Given the description of an element on the screen output the (x, y) to click on. 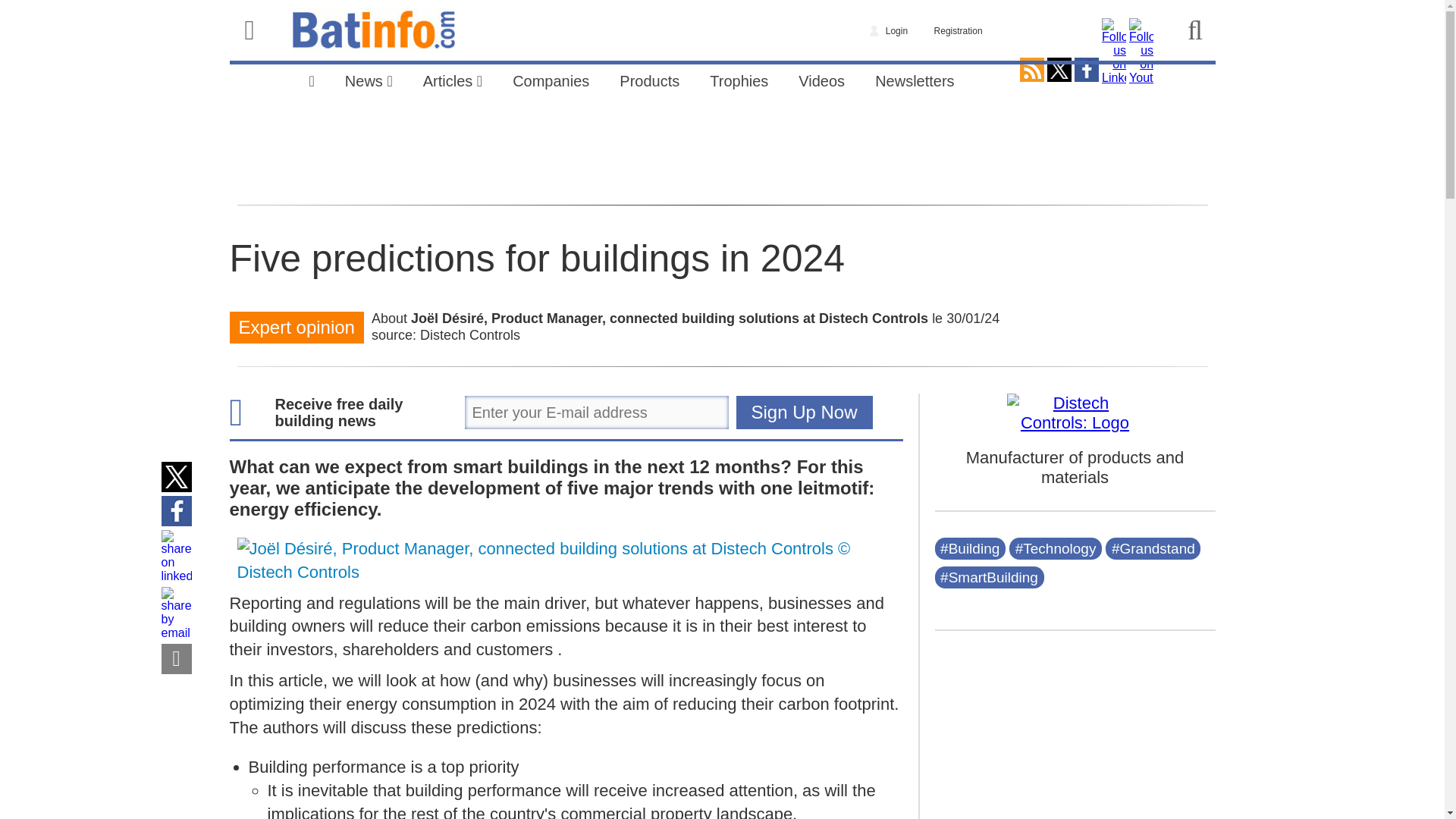
Videos (821, 79)
Trophies (738, 79)
 Login (888, 28)
News (368, 79)
Articles (452, 79)
Sign Up Now (803, 412)
Registration (958, 28)
Batinfo.com (373, 30)
Registration (958, 28)
Companies (550, 79)
